Given the description of an element on the screen output the (x, y) to click on. 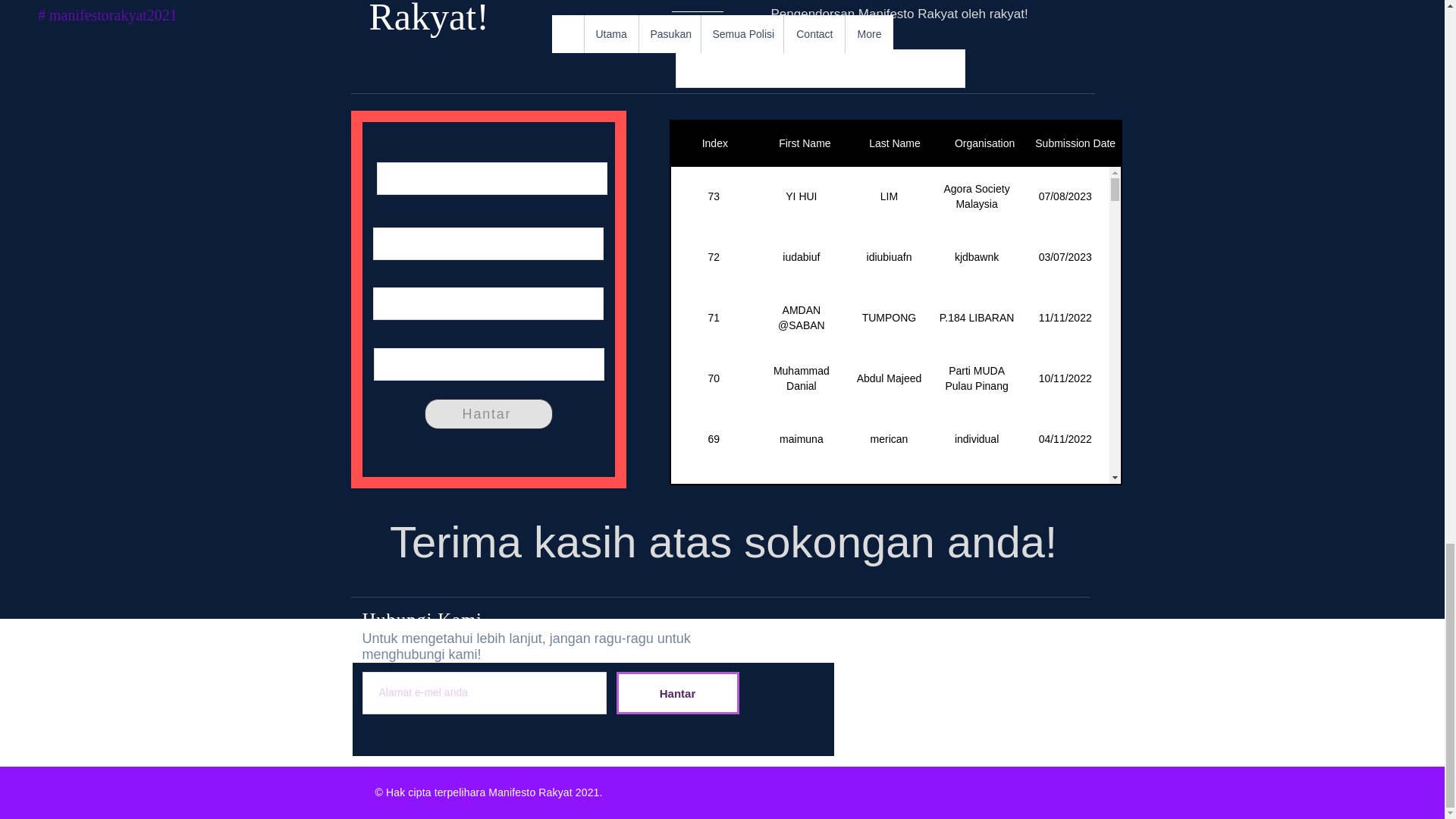
Hantar (489, 413)
Hantar (676, 692)
